Given the description of an element on the screen output the (x, y) to click on. 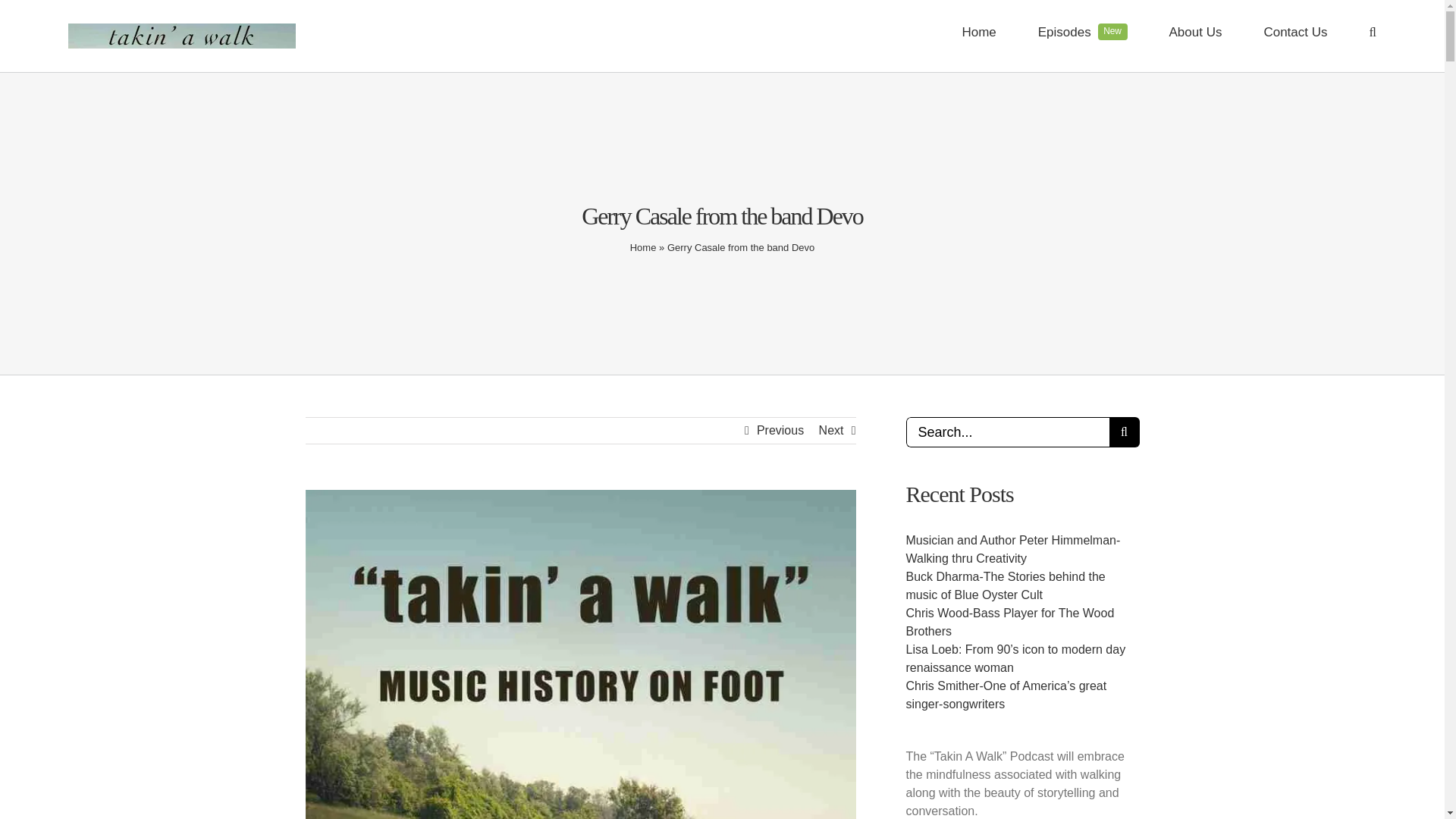
Home (643, 247)
Previous (780, 430)
Next (831, 430)
Contact Us (1294, 31)
Musician and Author Peter Himmelman-Walking thru Creativity (1012, 549)
